Given the description of an element on the screen output the (x, y) to click on. 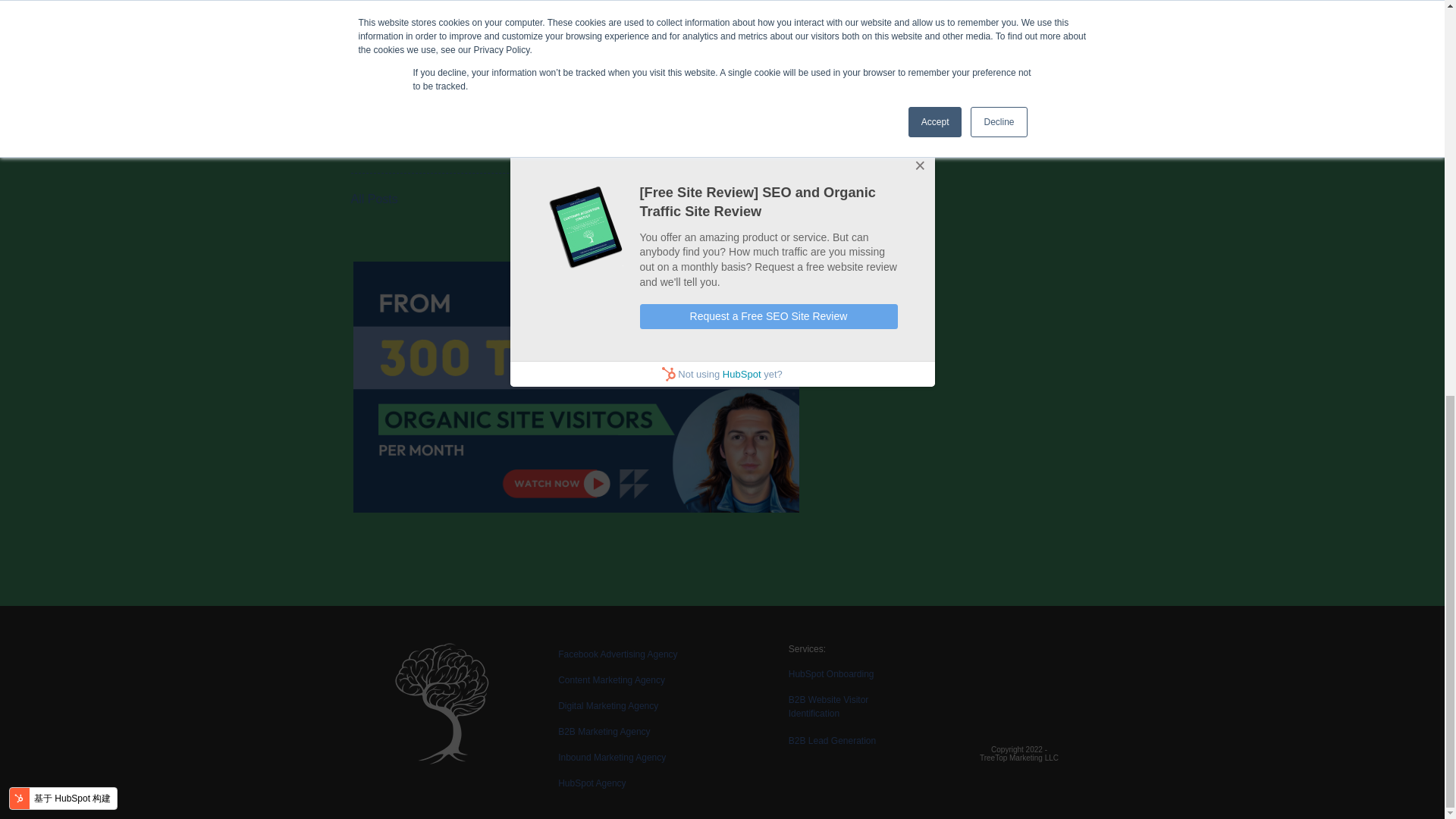
email template (438, 139)
email marketing for Shopify (732, 139)
email marketing (533, 139)
Omnisend (615, 139)
All Posts (595, 199)
Read More (380, 65)
